Given the description of an element on the screen output the (x, y) to click on. 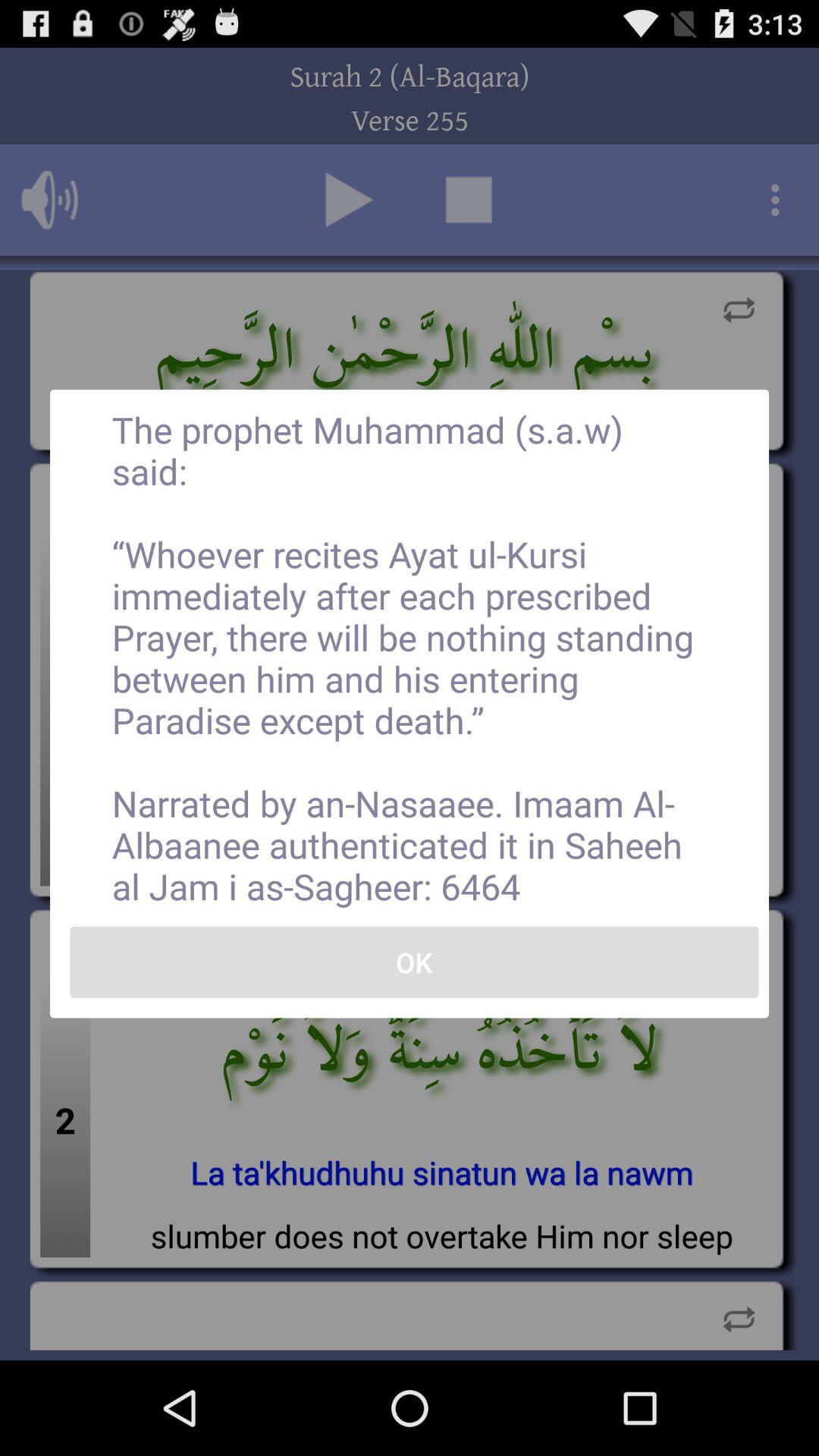
turn off the the prophet muhammad (409, 657)
